Given the description of an element on the screen output the (x, y) to click on. 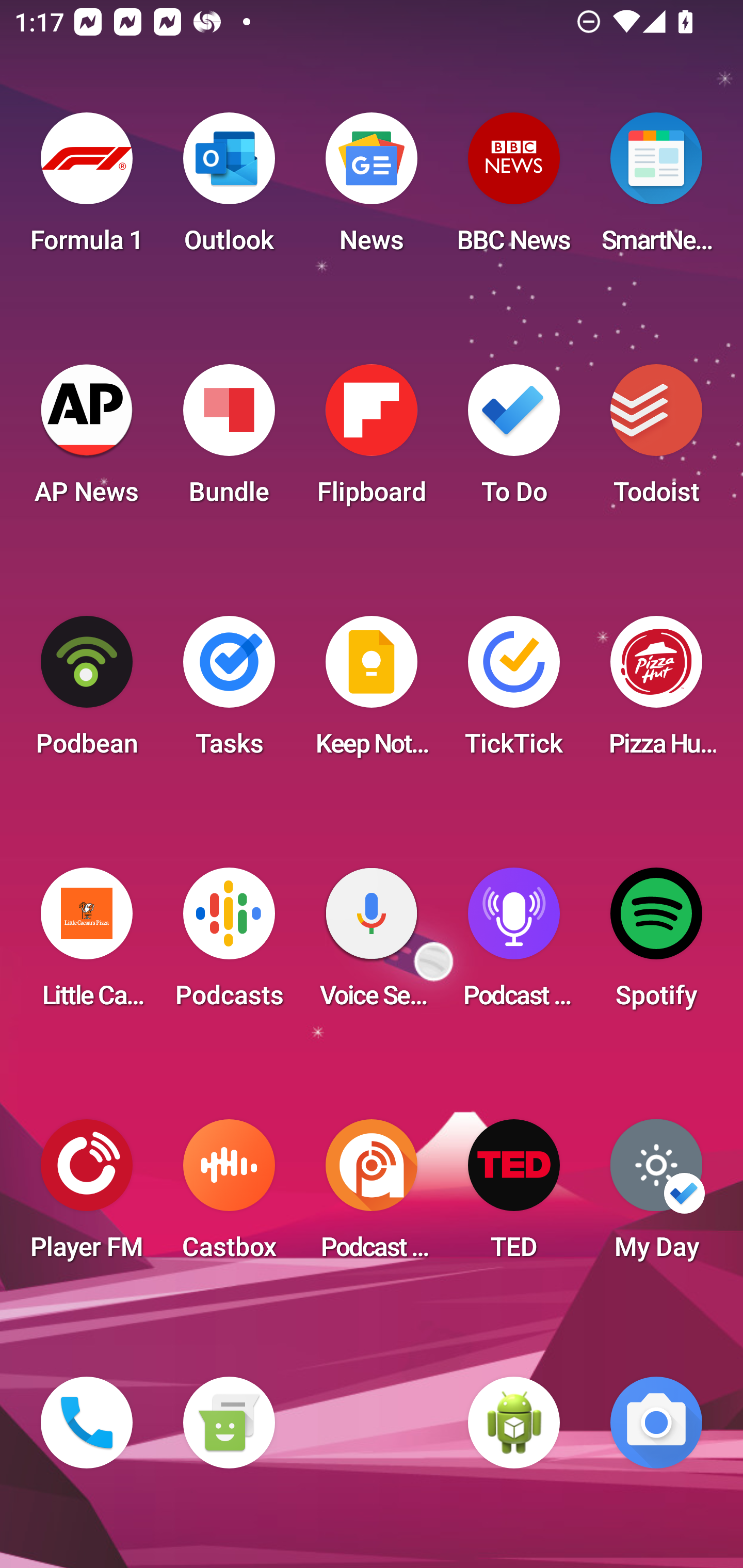
Formula 1 (86, 188)
Outlook (228, 188)
News (371, 188)
BBC News (513, 188)
SmartNews (656, 188)
AP News (86, 440)
Bundle (228, 440)
Flipboard (371, 440)
To Do (513, 440)
Todoist (656, 440)
Podbean (86, 692)
Tasks (228, 692)
Keep Notes (371, 692)
TickTick (513, 692)
Pizza Hut HK & Macau (656, 692)
Little Caesars Pizza (86, 943)
Podcasts (228, 943)
Voice Search (371, 943)
Podcast Player (513, 943)
Spotify (656, 943)
Player FM (86, 1195)
Castbox (228, 1195)
Podcast Addict (371, 1195)
TED (513, 1195)
My Day (656, 1195)
Phone (86, 1422)
Messaging (228, 1422)
WebView Browser Tester (513, 1422)
Camera (656, 1422)
